Given the description of an element on the screen output the (x, y) to click on. 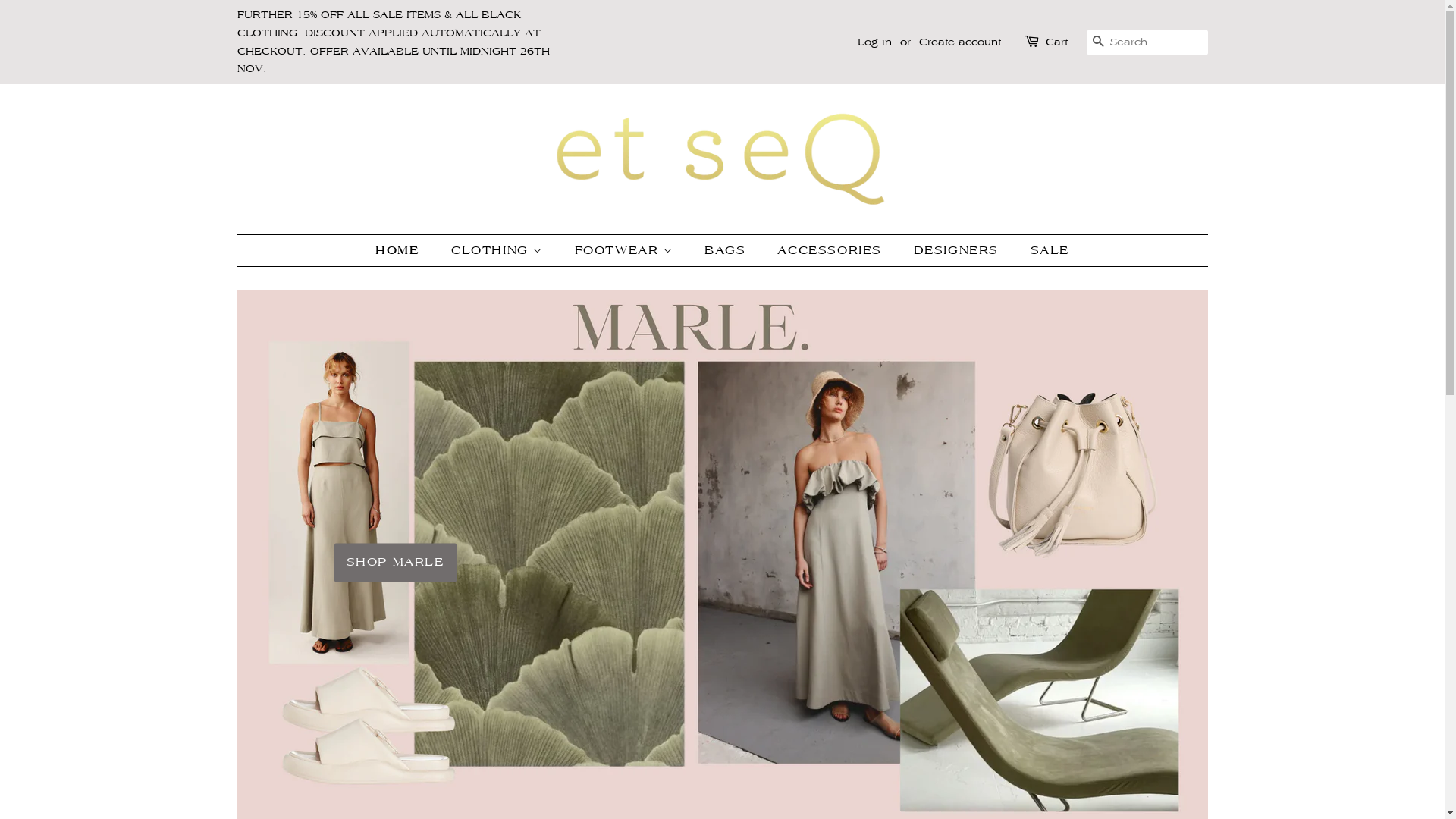
Log in Element type: text (873, 41)
BAGS Element type: text (726, 250)
SHOP MARLE Element type: text (394, 561)
DESIGNERS Element type: text (957, 250)
ACCESSORIES Element type: text (831, 250)
HOME Element type: text (404, 250)
SEARCH Element type: text (1097, 42)
Cart Element type: text (1055, 42)
CLOTHING Element type: text (498, 250)
SALE Element type: text (1044, 250)
Create account Element type: text (960, 41)
FOOTWEAR Element type: text (625, 250)
